Given the description of an element on the screen output the (x, y) to click on. 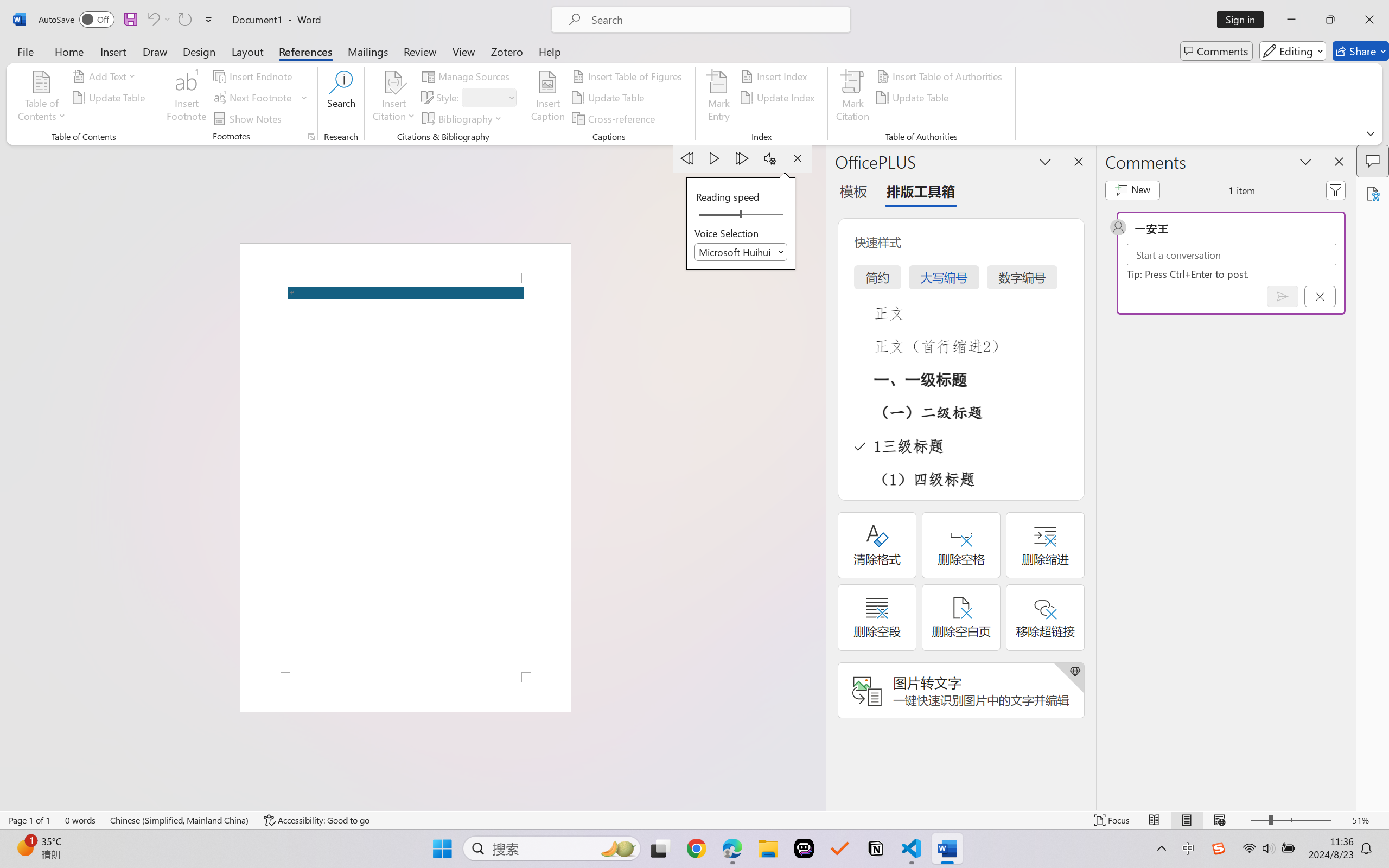
Page left (716, 214)
Filter (1335, 190)
Cross-reference... (615, 118)
Insert Citation (393, 97)
